Given the description of an element on the screen output the (x, y) to click on. 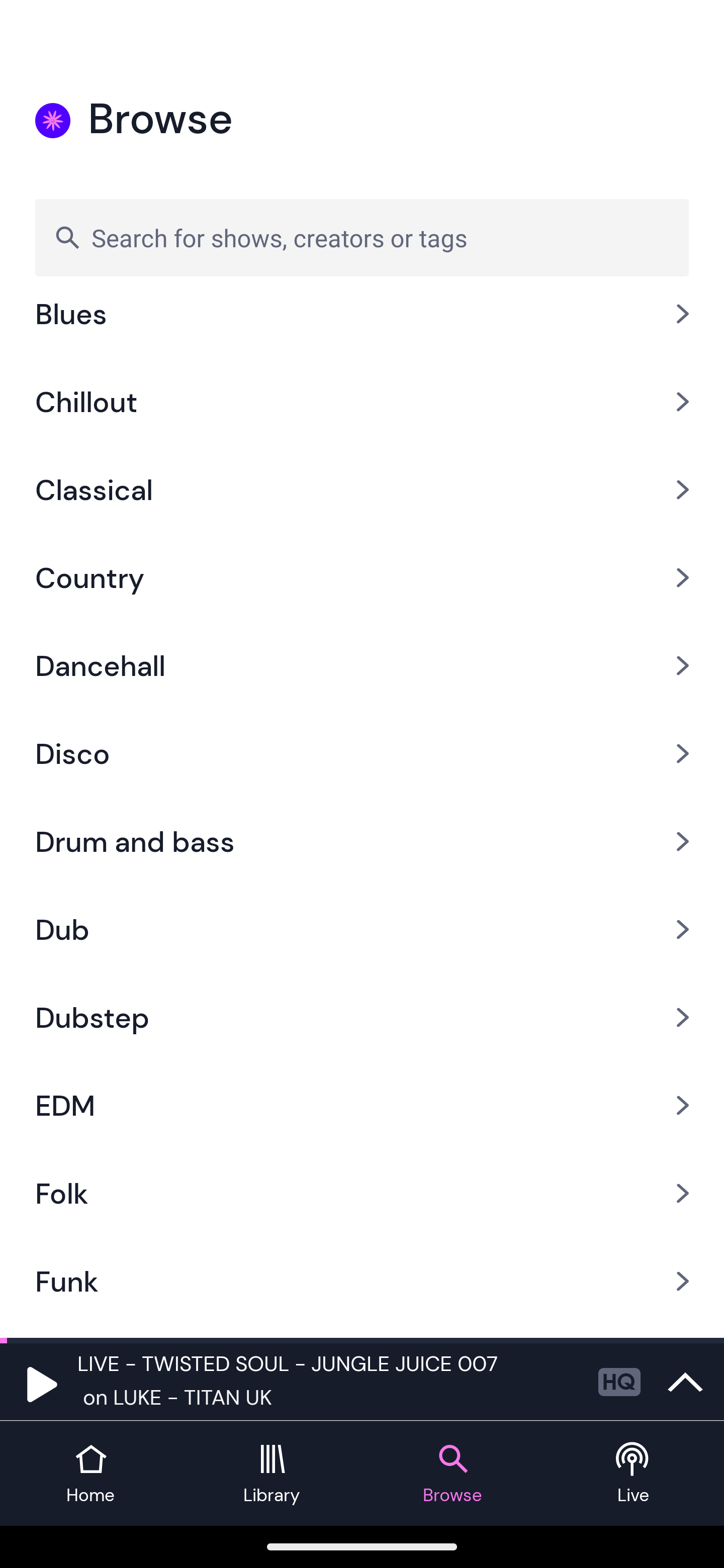
Search for shows, creators or tags (361, 237)
Blues (361, 329)
Chillout (361, 401)
Classical (361, 489)
Country (361, 576)
Dancehall (361, 665)
Disco (361, 754)
Drum and bass (361, 841)
Dub (361, 929)
Dubstep (361, 1017)
EDM (361, 1105)
Folk (361, 1193)
Funk (361, 1280)
Home tab Home (90, 1473)
Library tab Library (271, 1473)
Browse tab Browse (452, 1473)
Live tab Live (633, 1473)
